Given the description of an element on the screen output the (x, y) to click on. 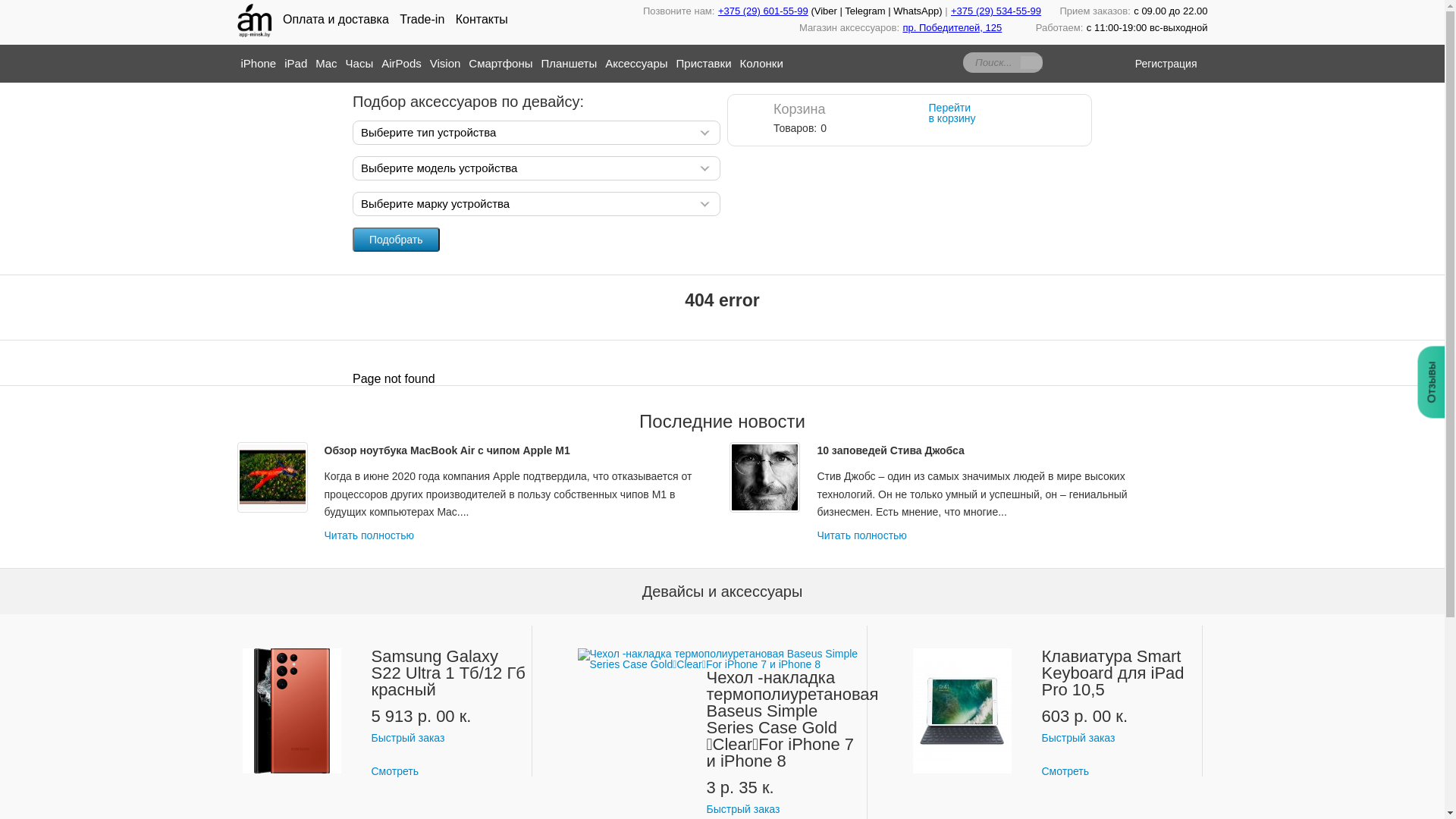
Vision Element type: text (449, 63)
Trade-in Element type: text (421, 19)
AirPods Element type: text (405, 63)
+375 (29) 601-55-99 Element type: text (763, 10)
iPad Element type: text (299, 63)
iPhone Element type: text (263, 63)
+375 (29) 534-55-99 Element type: text (995, 10)
Mac Element type: text (330, 63)
